Given the description of an element on the screen output the (x, y) to click on. 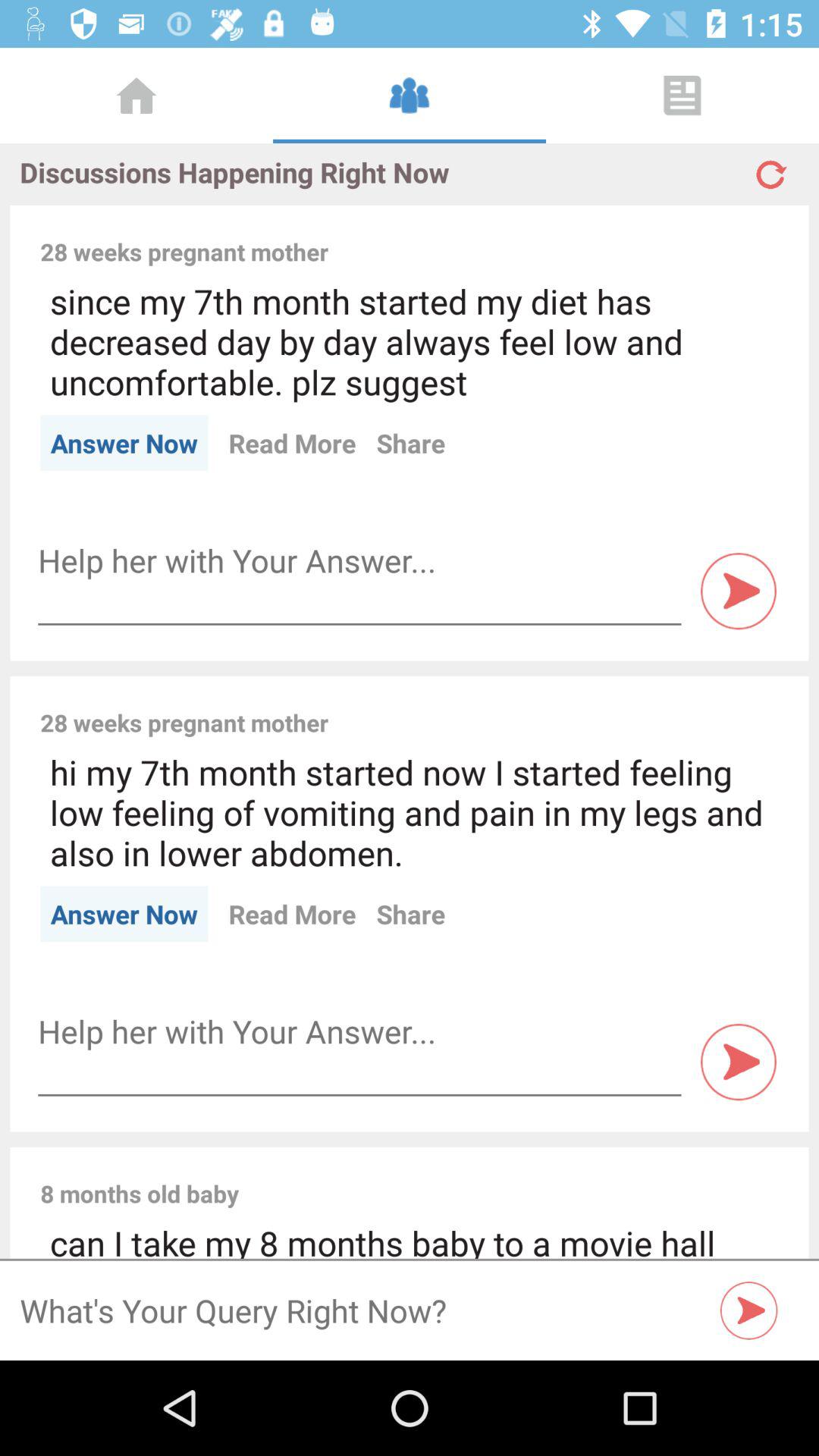
select the can i take item (409, 1238)
